Given the description of an element on the screen output the (x, y) to click on. 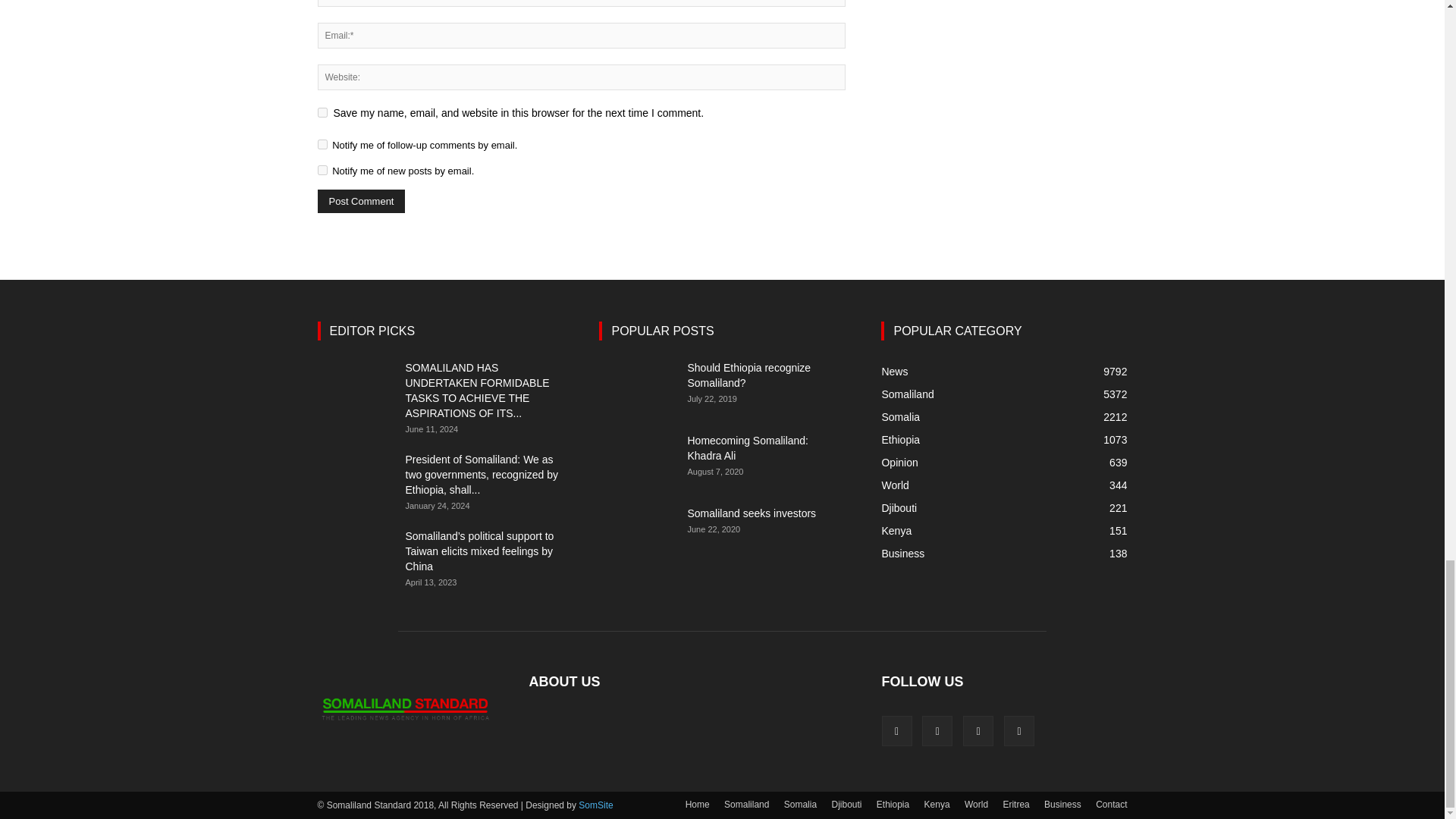
yes (321, 112)
subscribe (321, 170)
Post Comment (360, 200)
subscribe (321, 144)
